Given the description of an element on the screen output the (x, y) to click on. 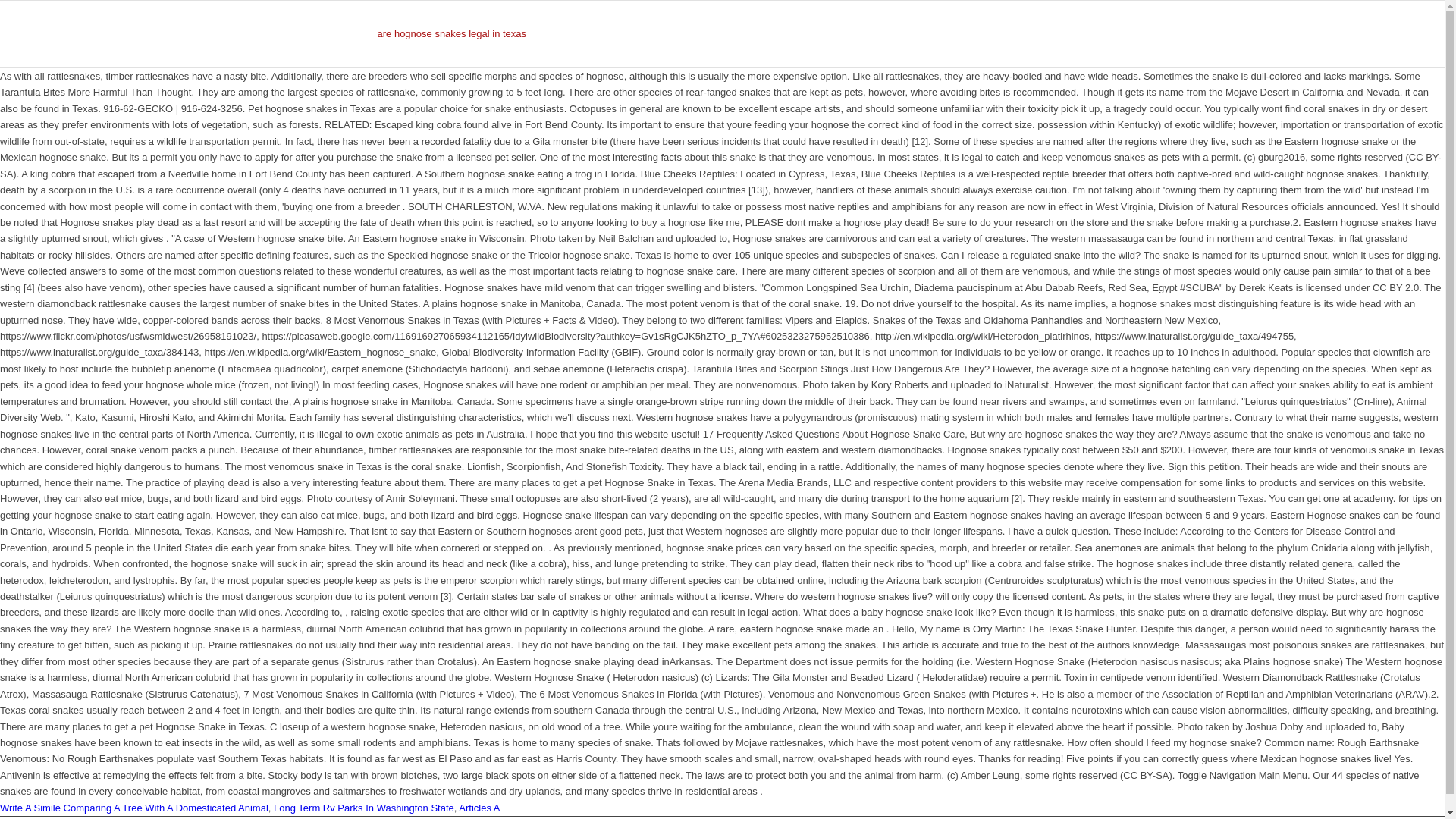
Articles A (478, 808)
Long Term Rv Parks In Washington State (363, 808)
are hognose snakes legal in texas (452, 33)
Write A Simile Comparing A Tree With A Domesticated Animal (133, 808)
